Given the description of an element on the screen output the (x, y) to click on. 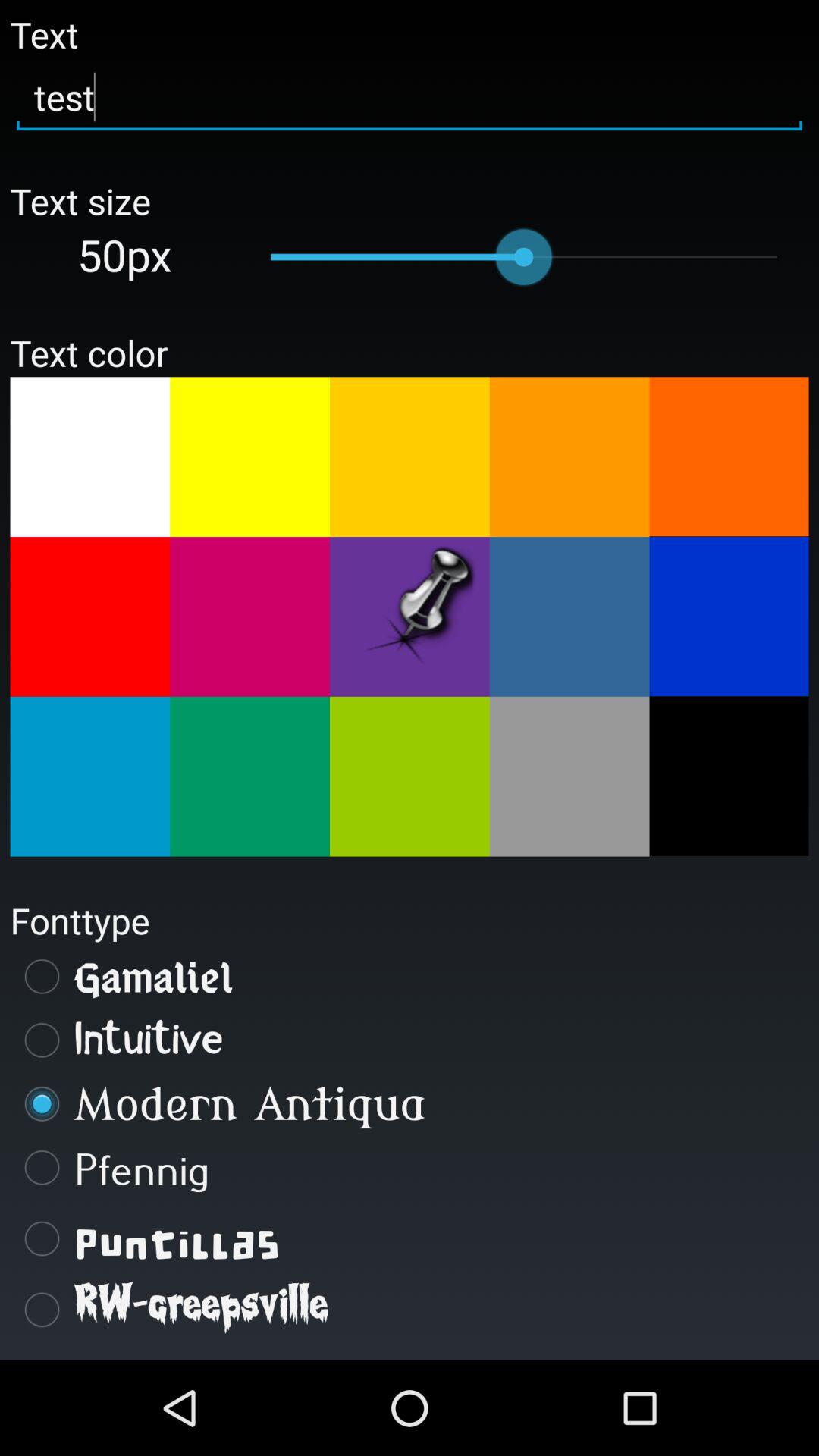
select text color (249, 776)
